Given the description of an element on the screen output the (x, y) to click on. 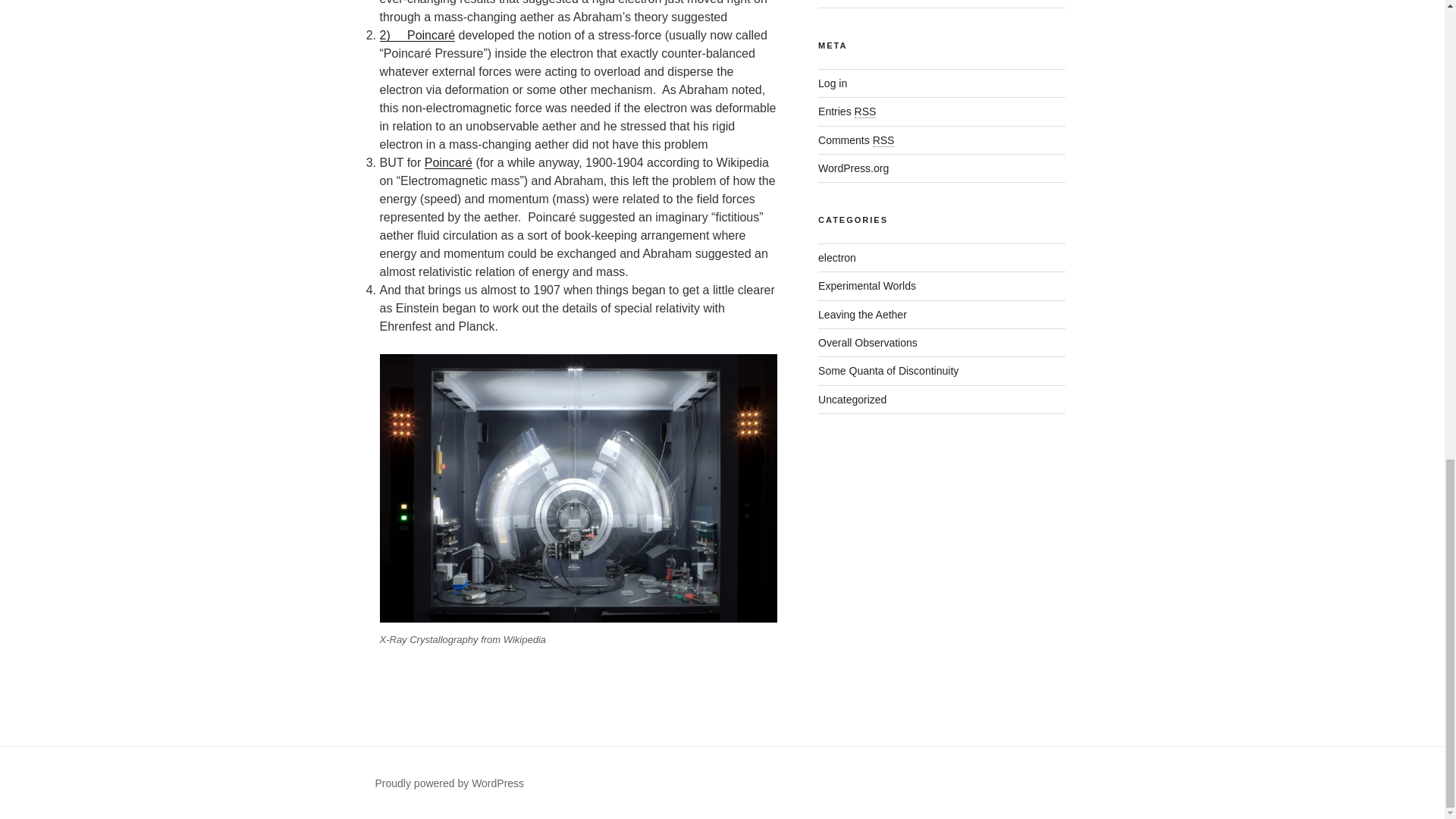
Leaving the Aether (862, 314)
Uncategorized (852, 399)
Log in (832, 82)
Really Simple Syndication (883, 140)
Overall Observations (867, 342)
Entries RSS (847, 111)
Really Simple Syndication (865, 111)
Some Quanta of Discontinuity (888, 370)
Experimental Worlds (866, 285)
electron (837, 257)
Comments RSS (855, 140)
WordPress.org (853, 168)
Proudly powered by WordPress (449, 783)
